Given the description of an element on the screen output the (x, y) to click on. 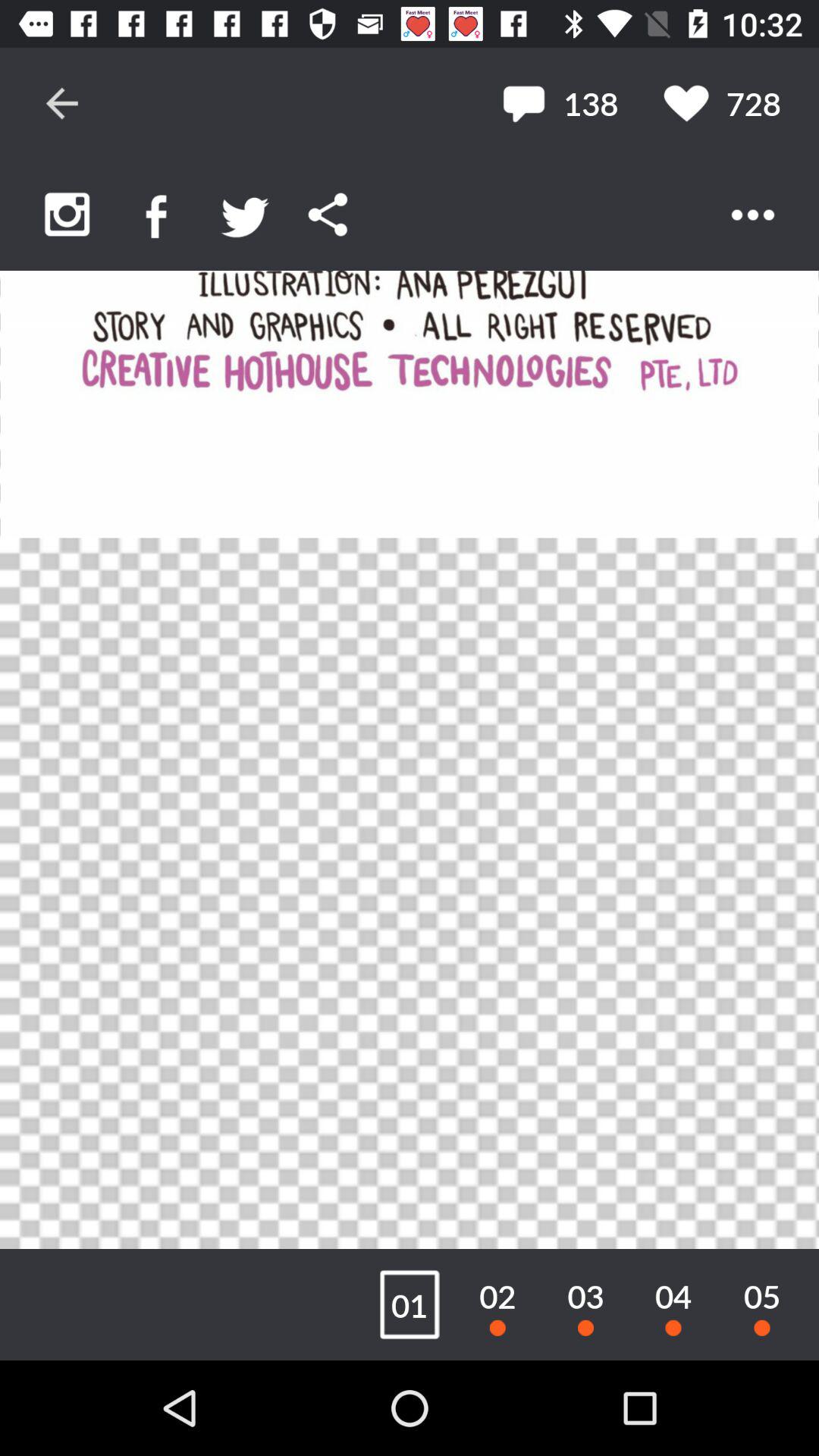
go back (61, 103)
